Given the description of an element on the screen output the (x, y) to click on. 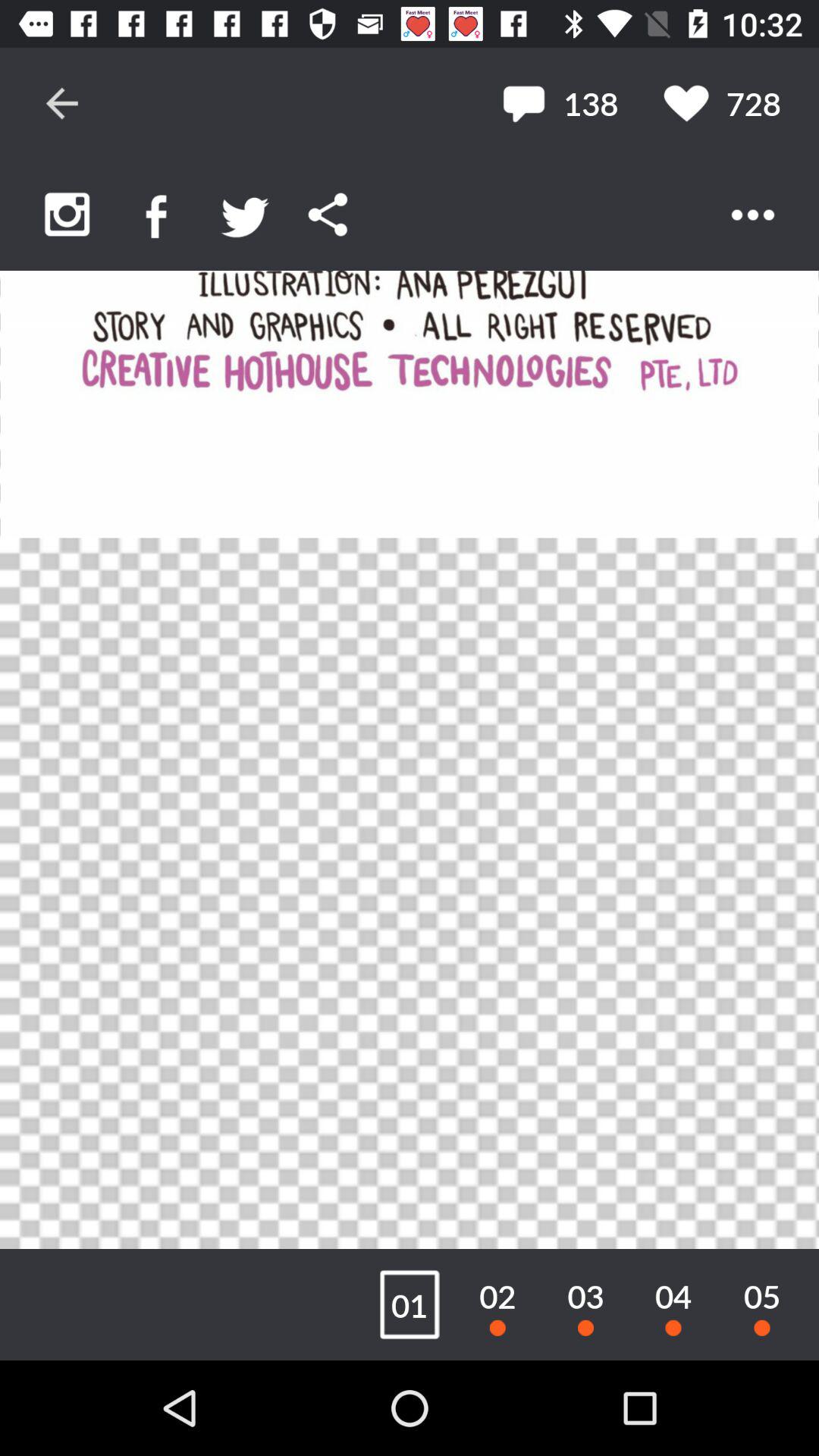
go back (61, 103)
